Given the description of an element on the screen output the (x, y) to click on. 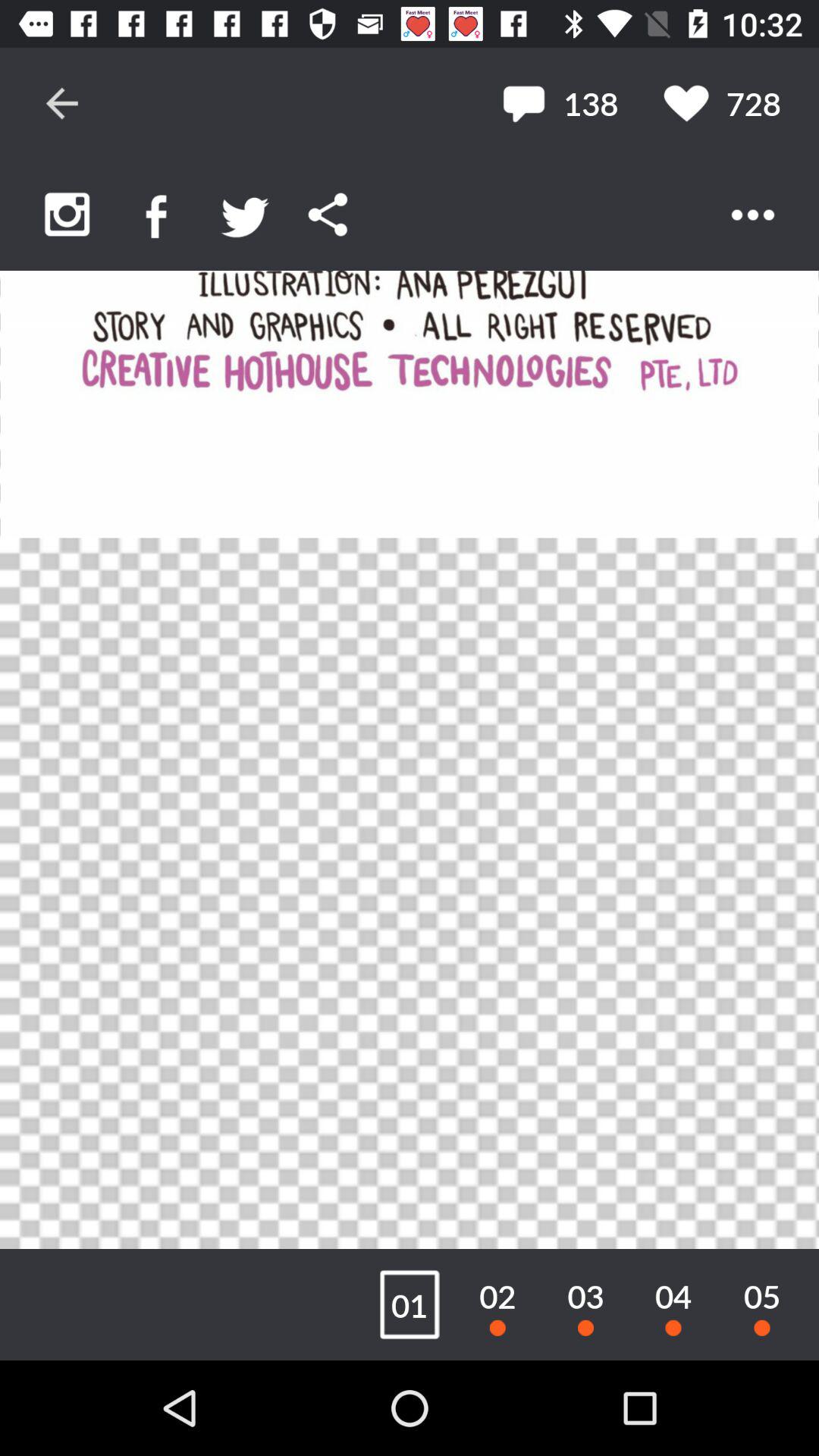
go back (61, 103)
